Given the description of an element on the screen output the (x, y) to click on. 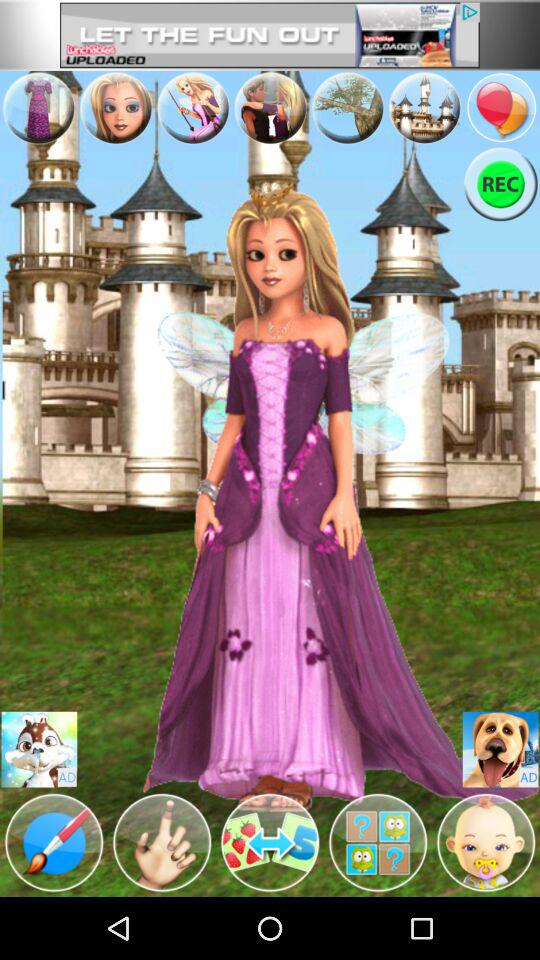
this is an advertisement (500, 749)
